Given the description of an element on the screen output the (x, y) to click on. 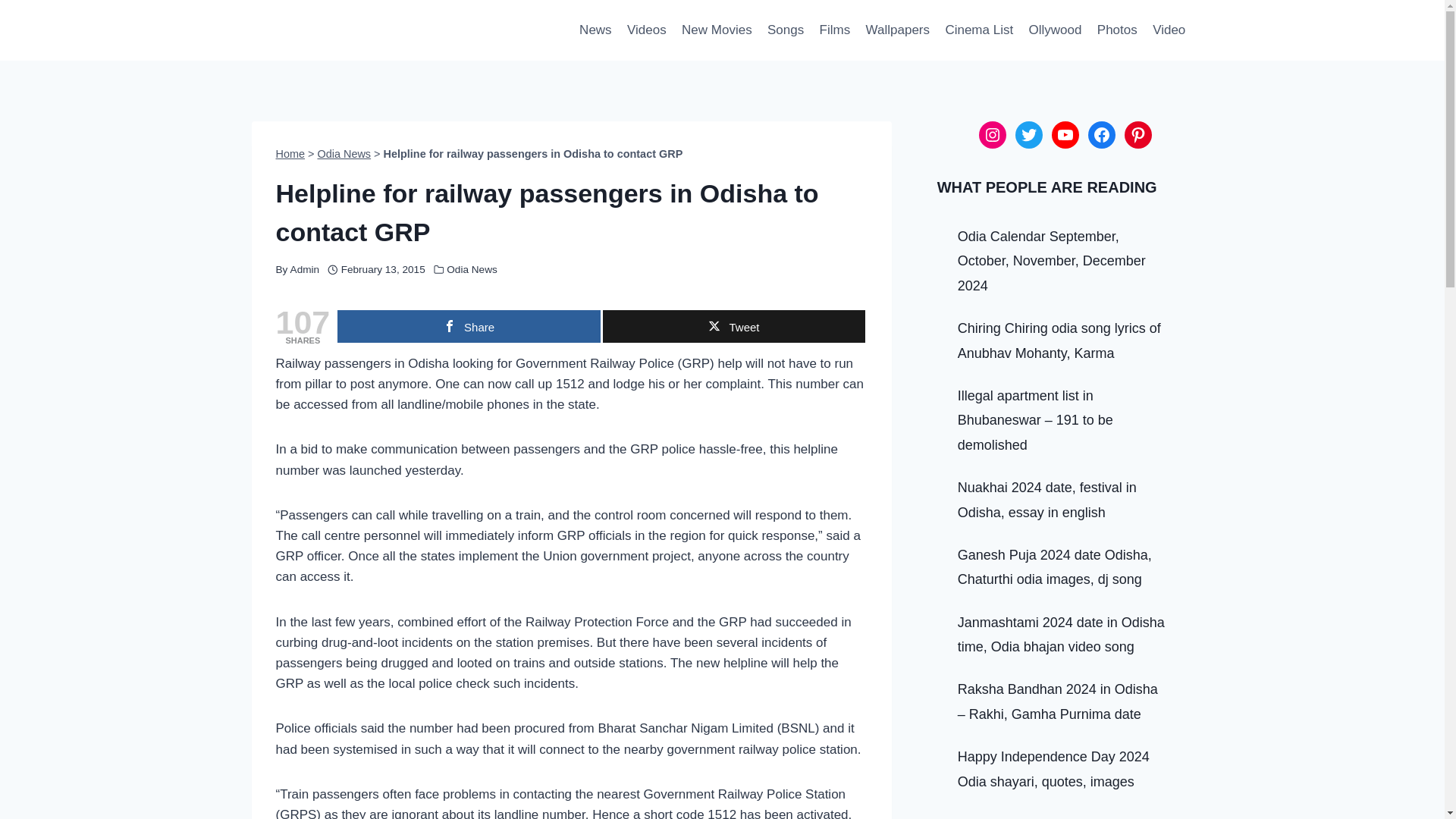
Songs (786, 30)
Cinema List (978, 30)
Video (1168, 30)
Videos (647, 30)
Admin (304, 269)
Odia News (471, 269)
Tweet (733, 326)
Share (468, 326)
Wallpapers (897, 30)
New Movies (717, 30)
